Given the description of an element on the screen output the (x, y) to click on. 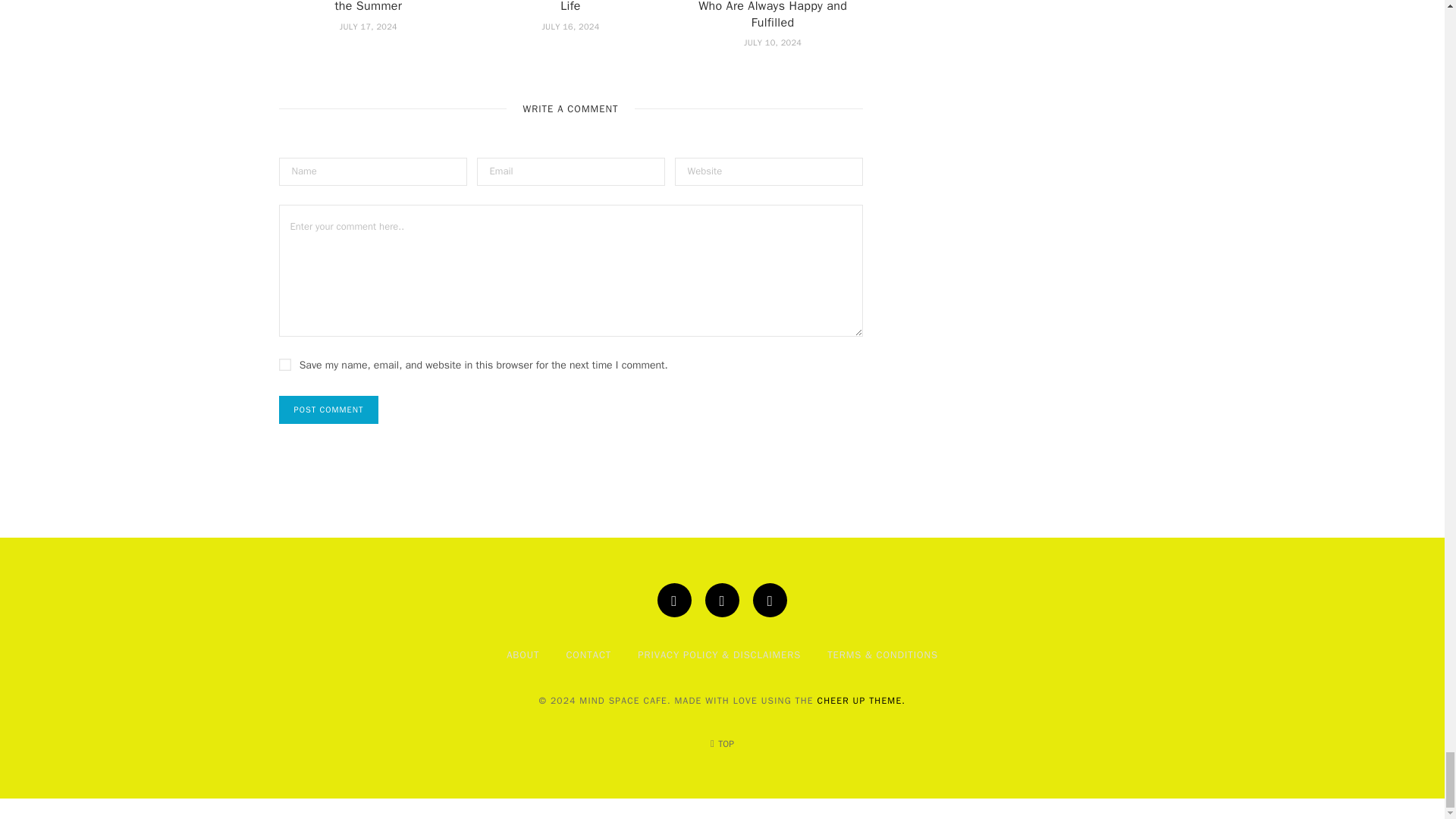
yes (285, 364)
Post Comment (328, 409)
